Given the description of an element on the screen output the (x, y) to click on. 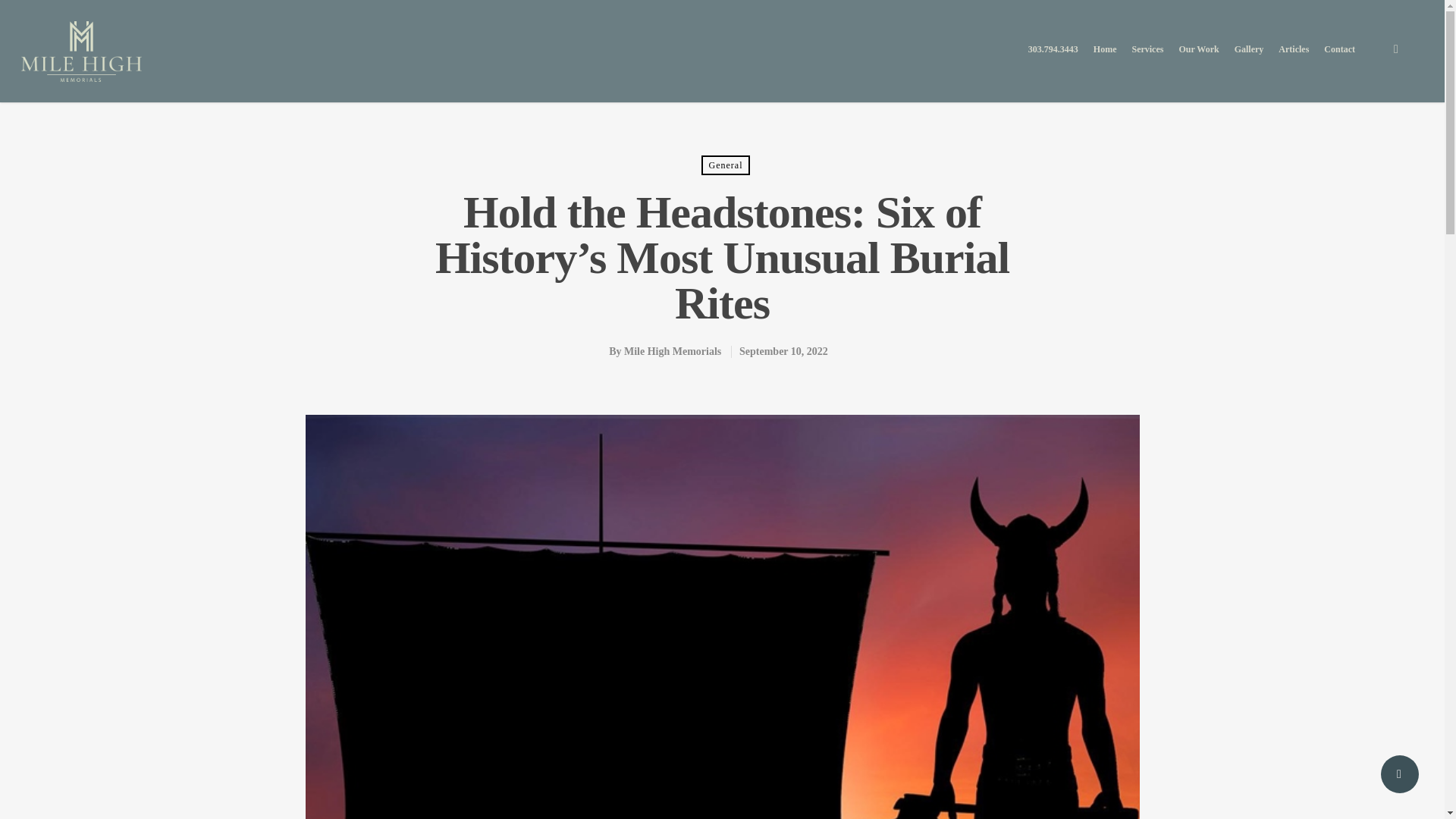
Home (1104, 59)
Contact (1339, 59)
XML (723, 794)
303.794.3443 (1052, 59)
General (724, 165)
Our Work (1197, 59)
Grindstone Design (750, 777)
Call Our Custom Headstone Designers - Mile High Memorials (459, 585)
Gallery (1248, 59)
Mile High Memorials (672, 351)
Articles (1293, 59)
Denver Web Design Company (755, 760)
Services (1147, 59)
Posts by Mile High Memorials (672, 351)
HTML (752, 794)
